Given the description of an element on the screen output the (x, y) to click on. 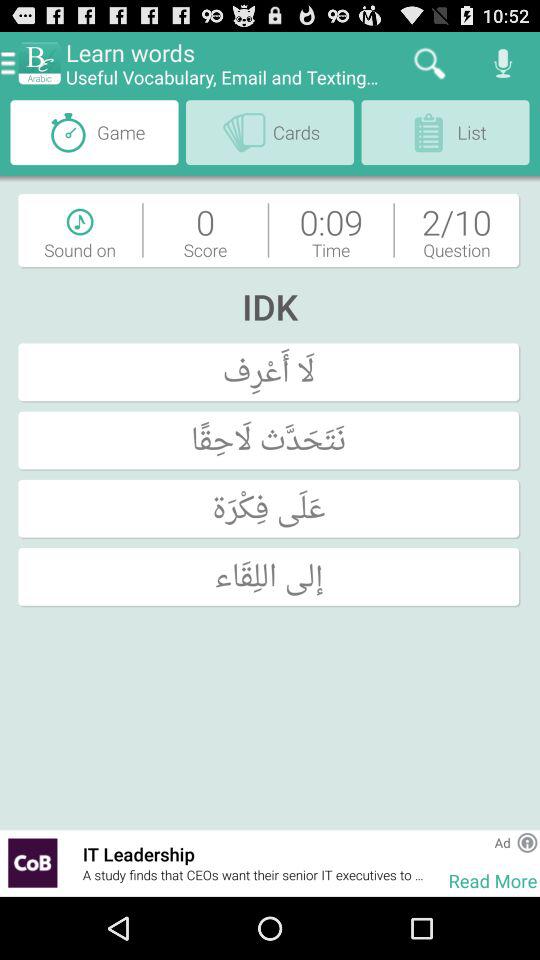
turn on app above read more (527, 842)
